Given the description of an element on the screen output the (x, y) to click on. 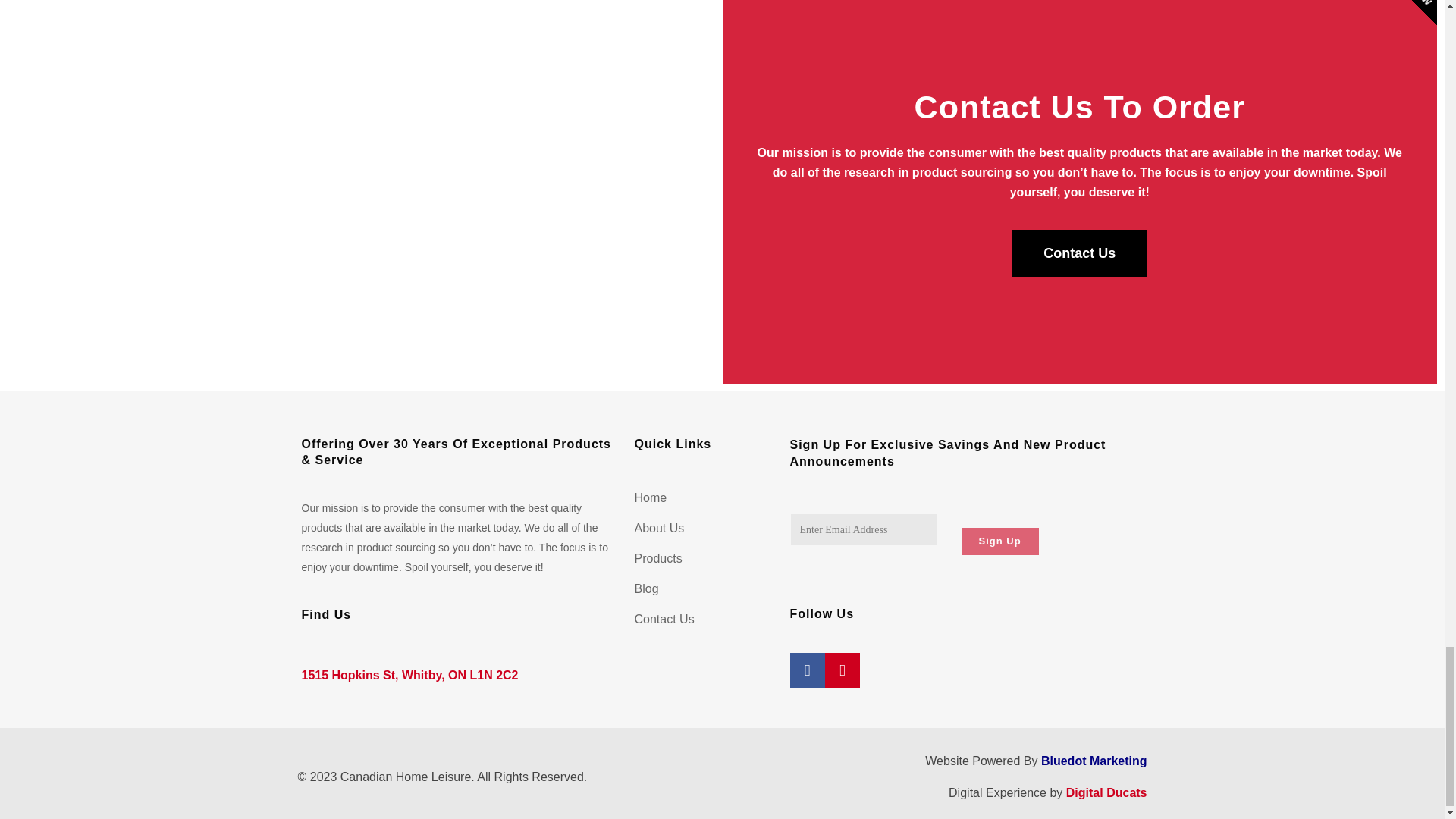
Sign Up (999, 541)
